Given the description of an element on the screen output the (x, y) to click on. 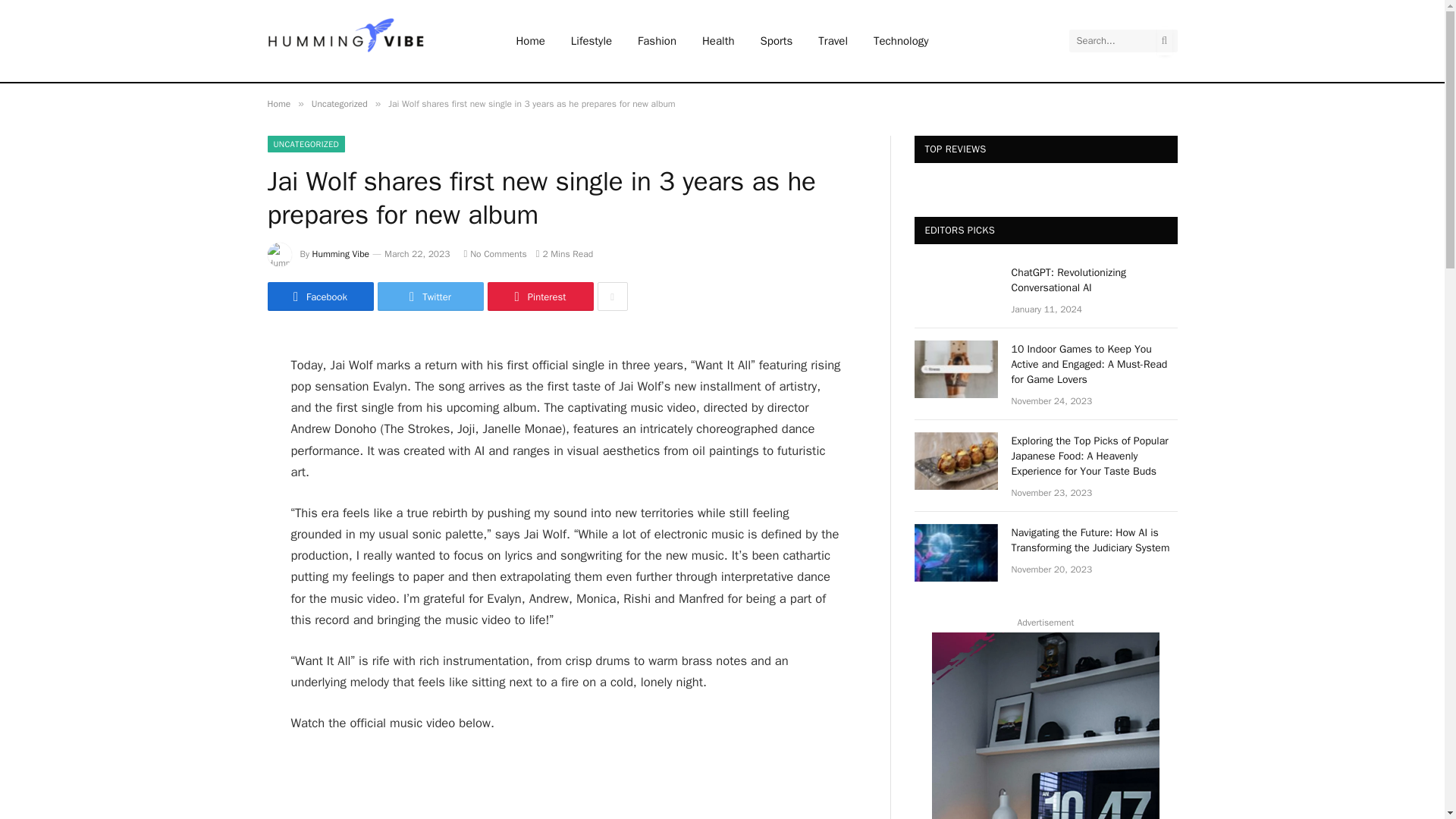
Facebook (319, 296)
Humming Vibe (341, 254)
No Comments (494, 254)
Home (277, 103)
Fashion (656, 40)
UNCATEGORIZED (305, 143)
Share on Twitter (430, 296)
Sports (777, 40)
Uncategorized (339, 103)
Posts by Humming Vibe (341, 254)
Lifestyle (590, 40)
Hummimg Vibe (361, 40)
Twitter (430, 296)
Travel (832, 40)
